Given the description of an element on the screen output the (x, y) to click on. 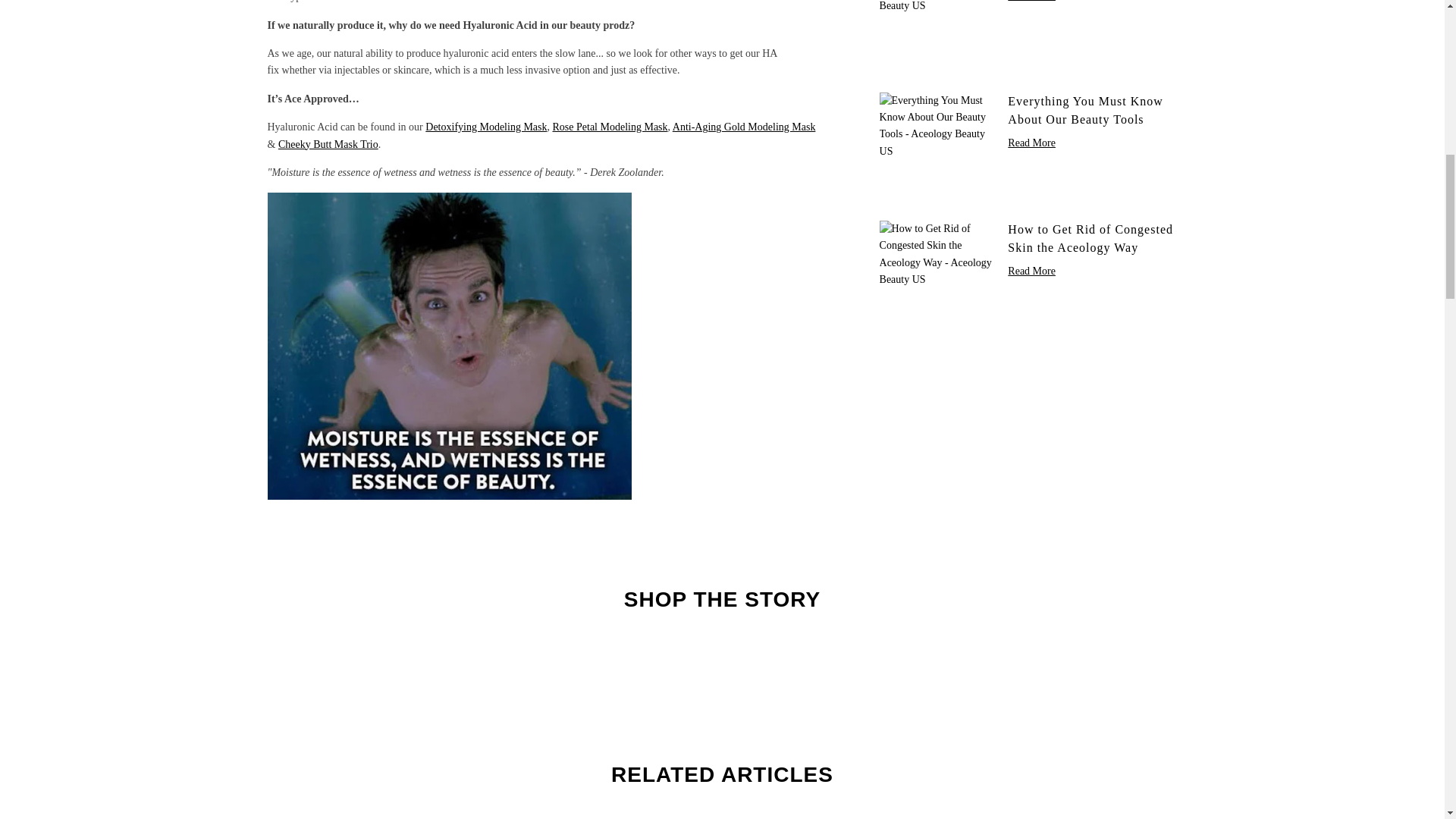
Spotlight on: Adenosine (935, 35)
How to Get Rid of Congested Skin the Aceology Way (935, 273)
Everything You Must Know About Our Beauty Tools (935, 145)
